Given the description of an element on the screen output the (x, y) to click on. 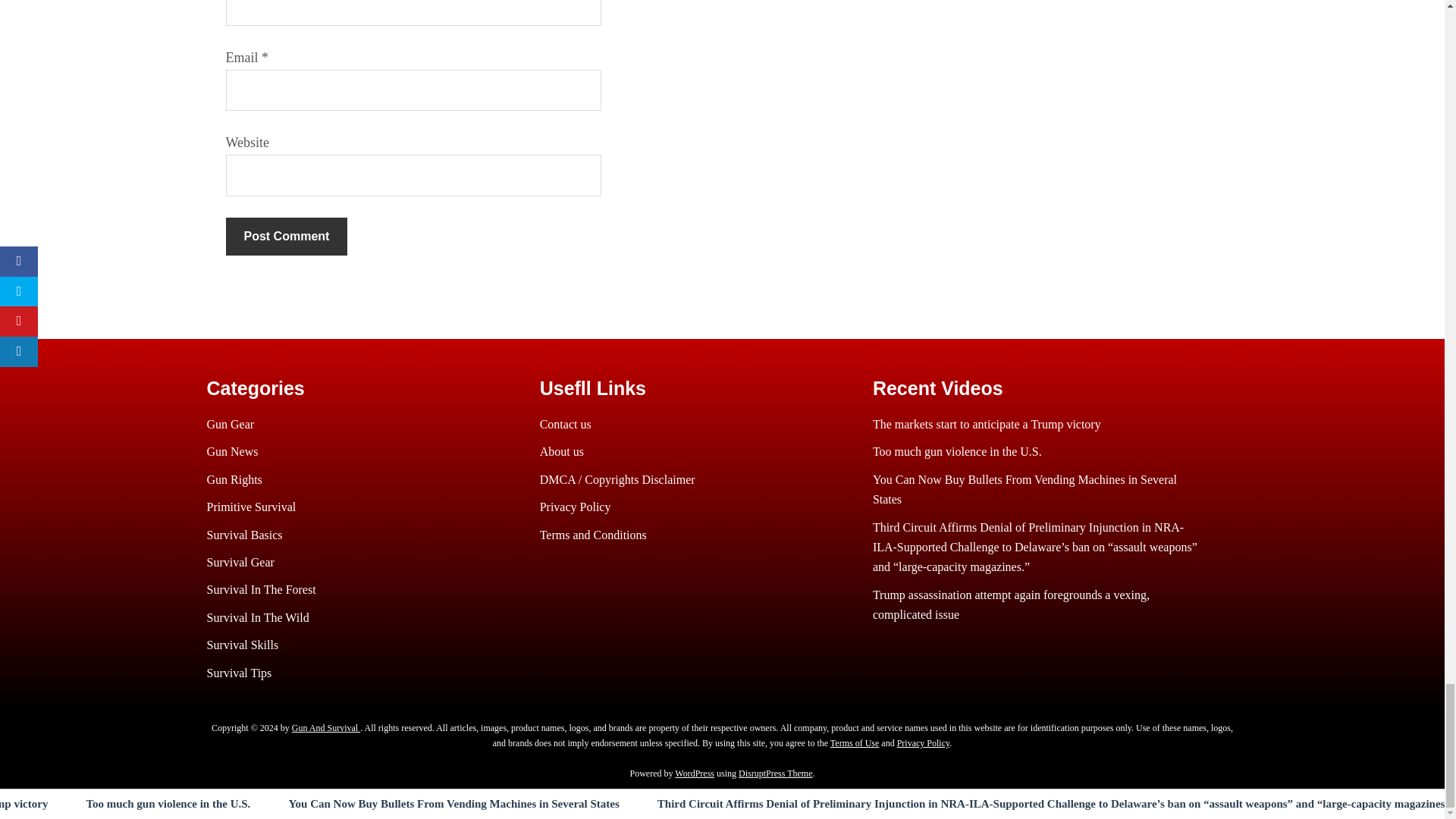
Post Comment (286, 236)
